Given the description of an element on the screen output the (x, y) to click on. 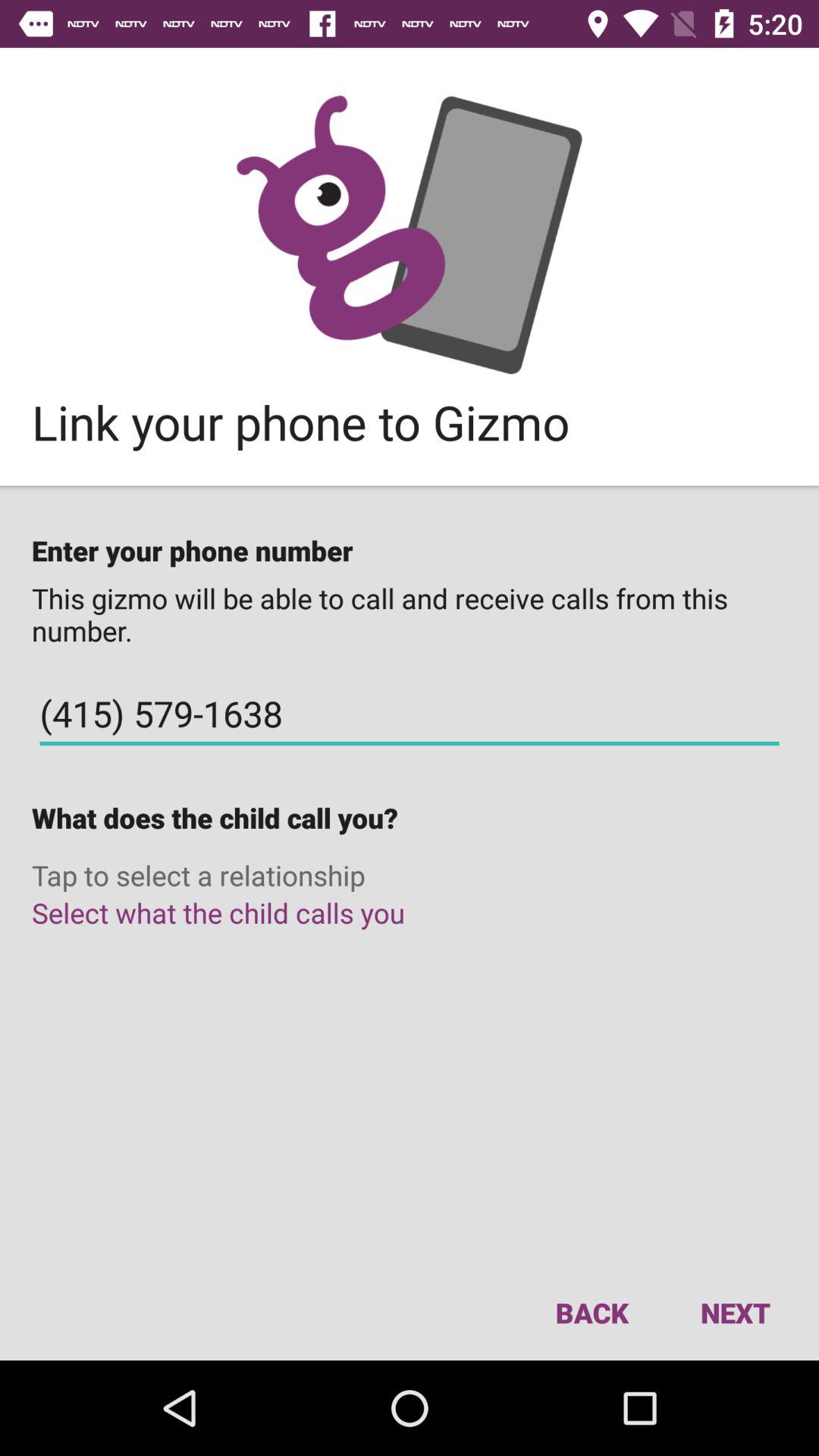
tap item to the left of next icon (591, 1312)
